Given the description of an element on the screen output the (x, y) to click on. 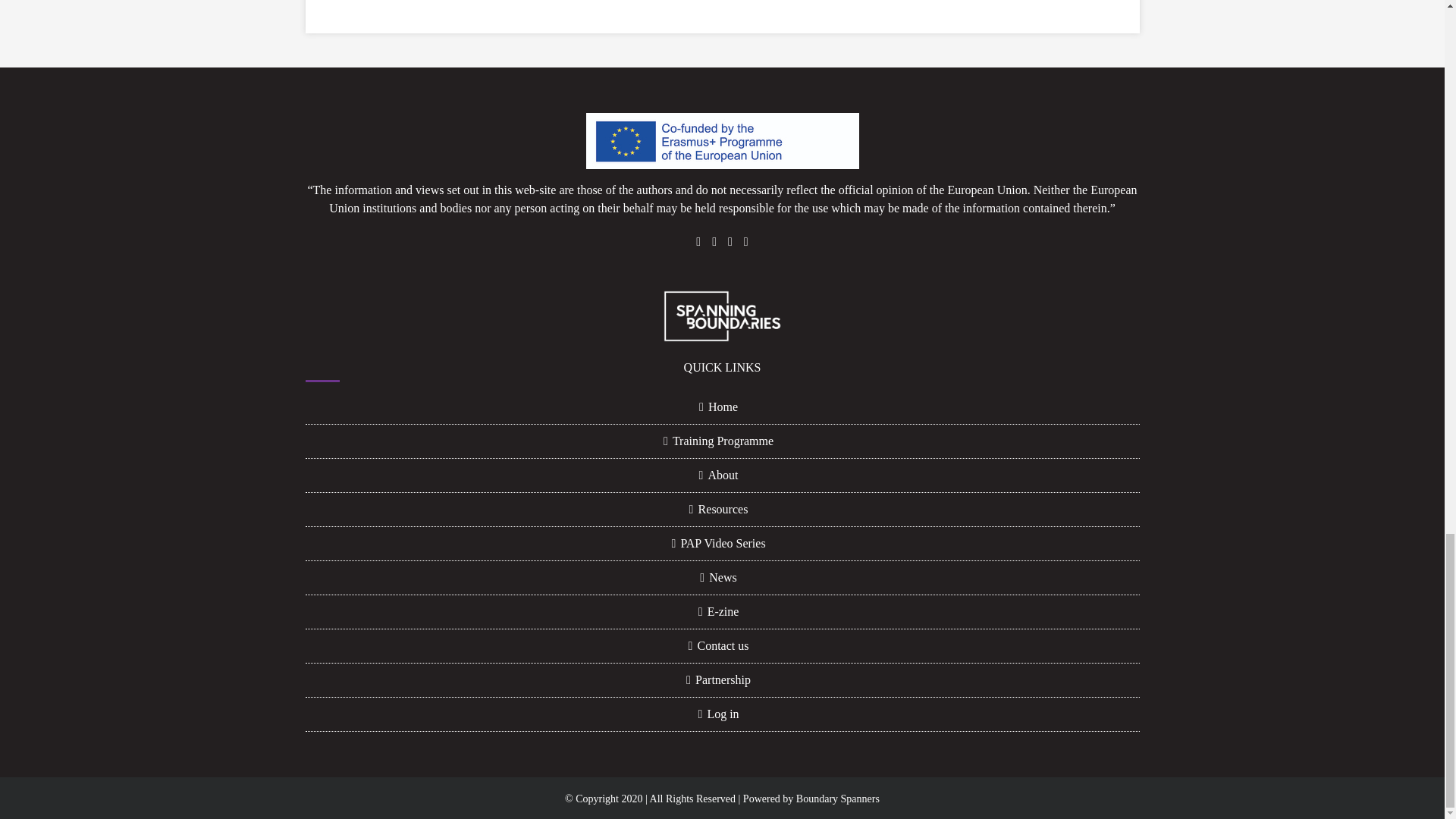
Home (722, 407)
Training Programme (722, 441)
